Given the description of an element on the screen output the (x, y) to click on. 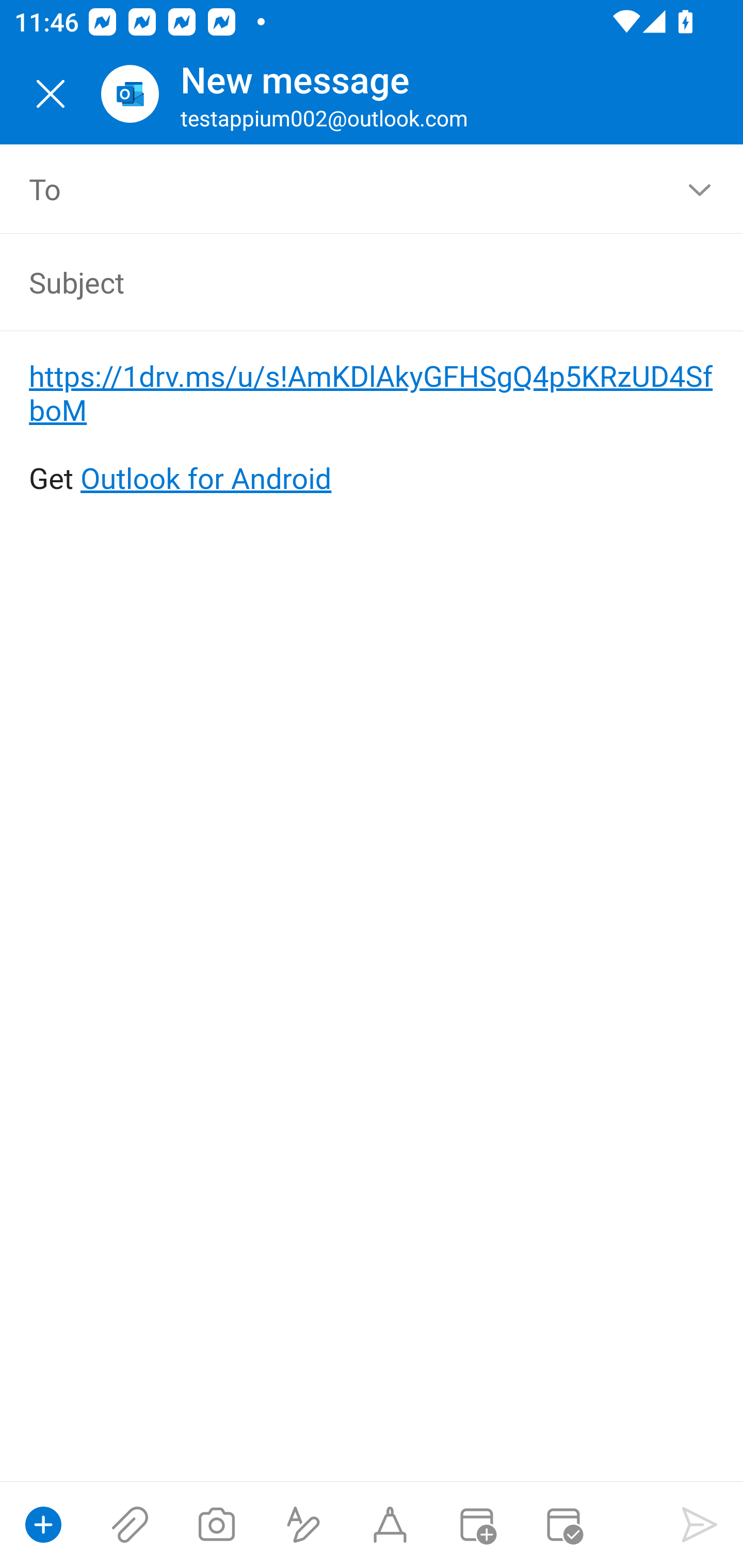
Close (50, 93)
Subject (342, 281)
Show compose options (43, 1524)
Attach files (129, 1524)
Take a photo (216, 1524)
Show formatting options (303, 1524)
Start Ink compose (389, 1524)
Convert to event (476, 1524)
Send availability (563, 1524)
Send (699, 1524)
